Given the description of an element on the screen output the (x, y) to click on. 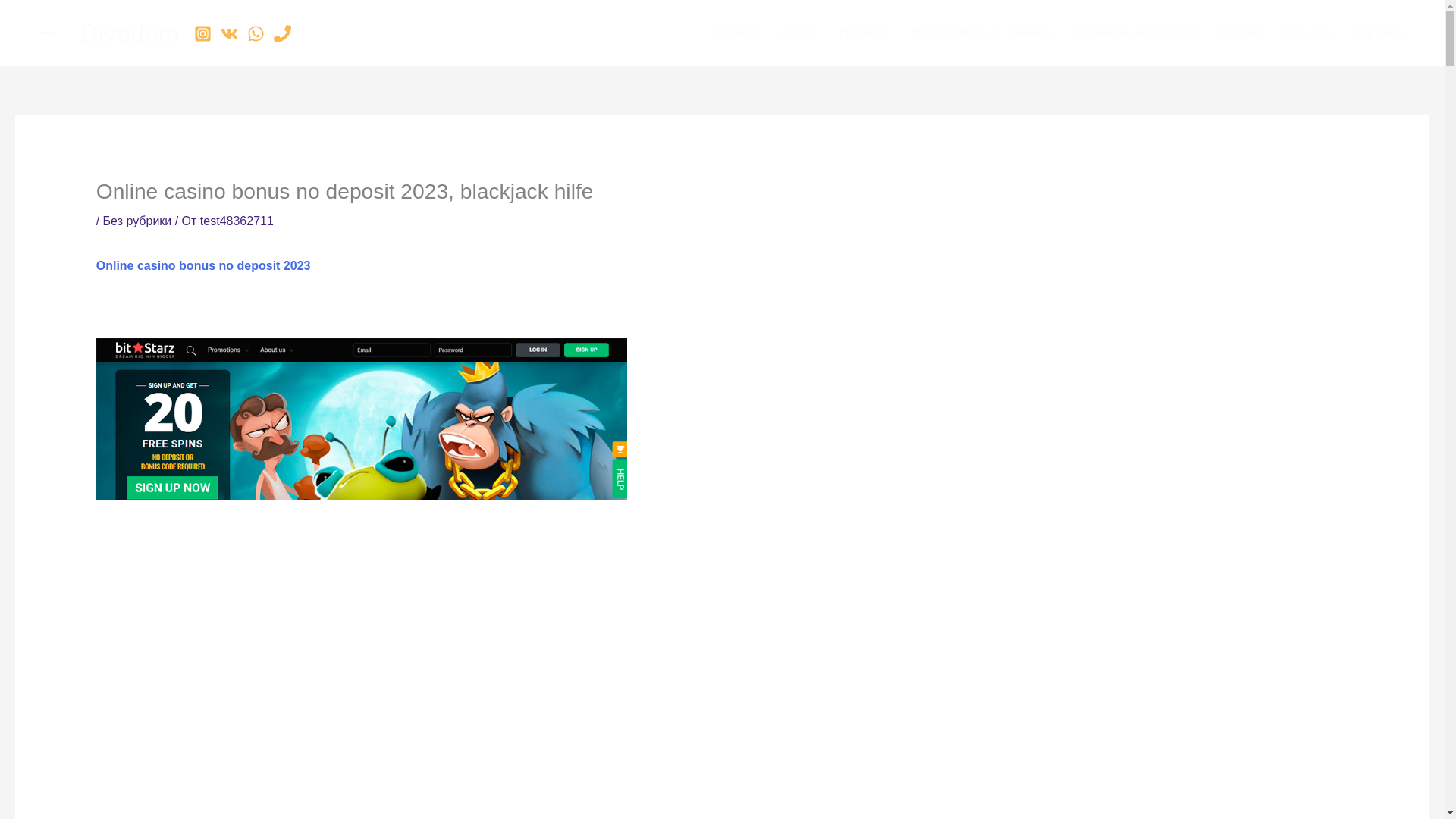
Online casino bonus no deposit 2023 (203, 265)
Divodom (129, 32)
test48362711 (236, 220)
